Given the description of an element on the screen output the (x, y) to click on. 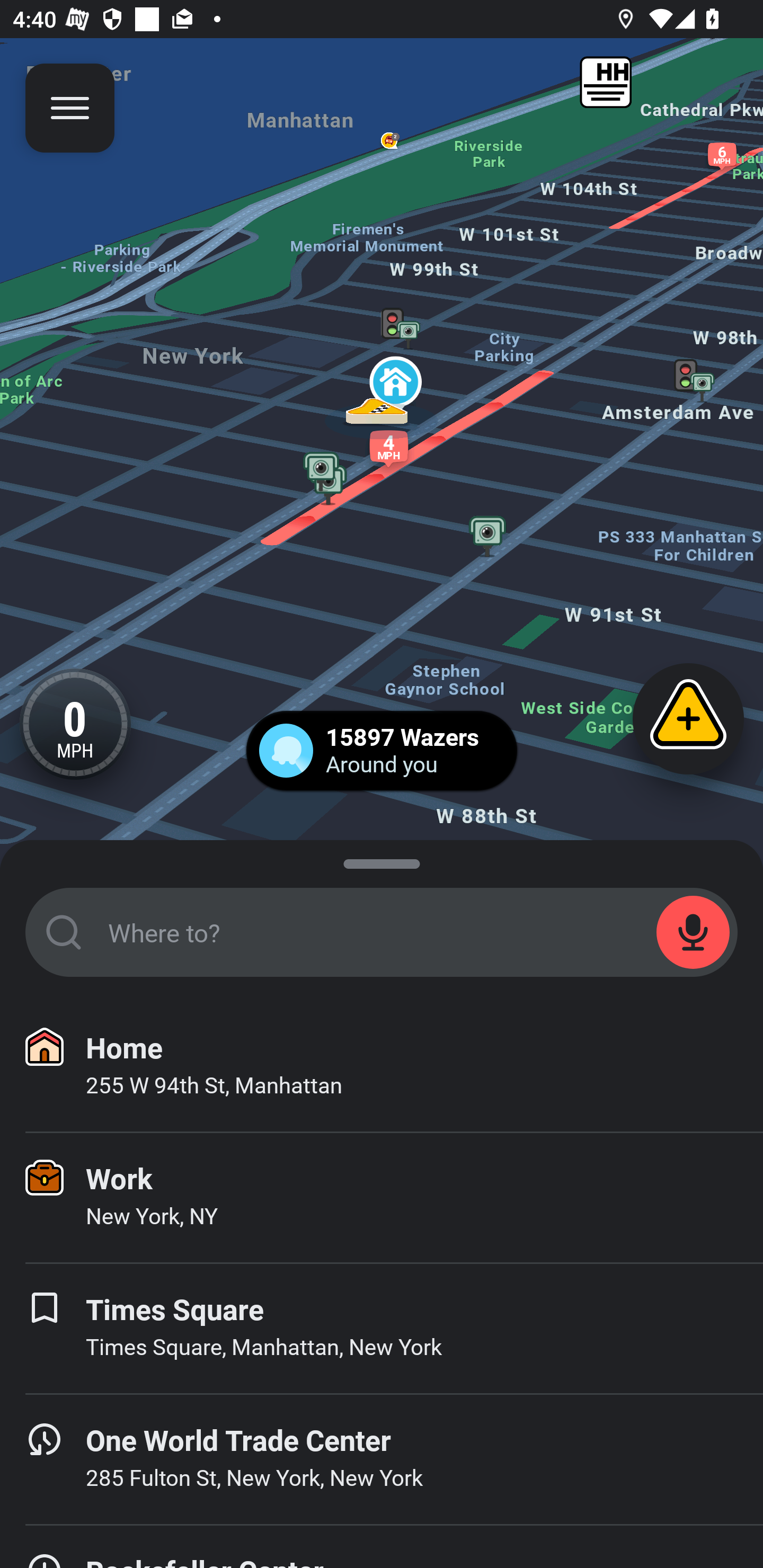
SUGGESTIONS_SHEET_DRAG_HANDLE (381, 860)
START_STATE_SEARCH_FIELD Where to? (381, 931)
Home 255 W 94th St, Manhattan (381, 1066)
Work New York, NY (381, 1197)
Times Square Times Square, Manhattan, New York (381, 1328)
